Given the description of an element on the screen output the (x, y) to click on. 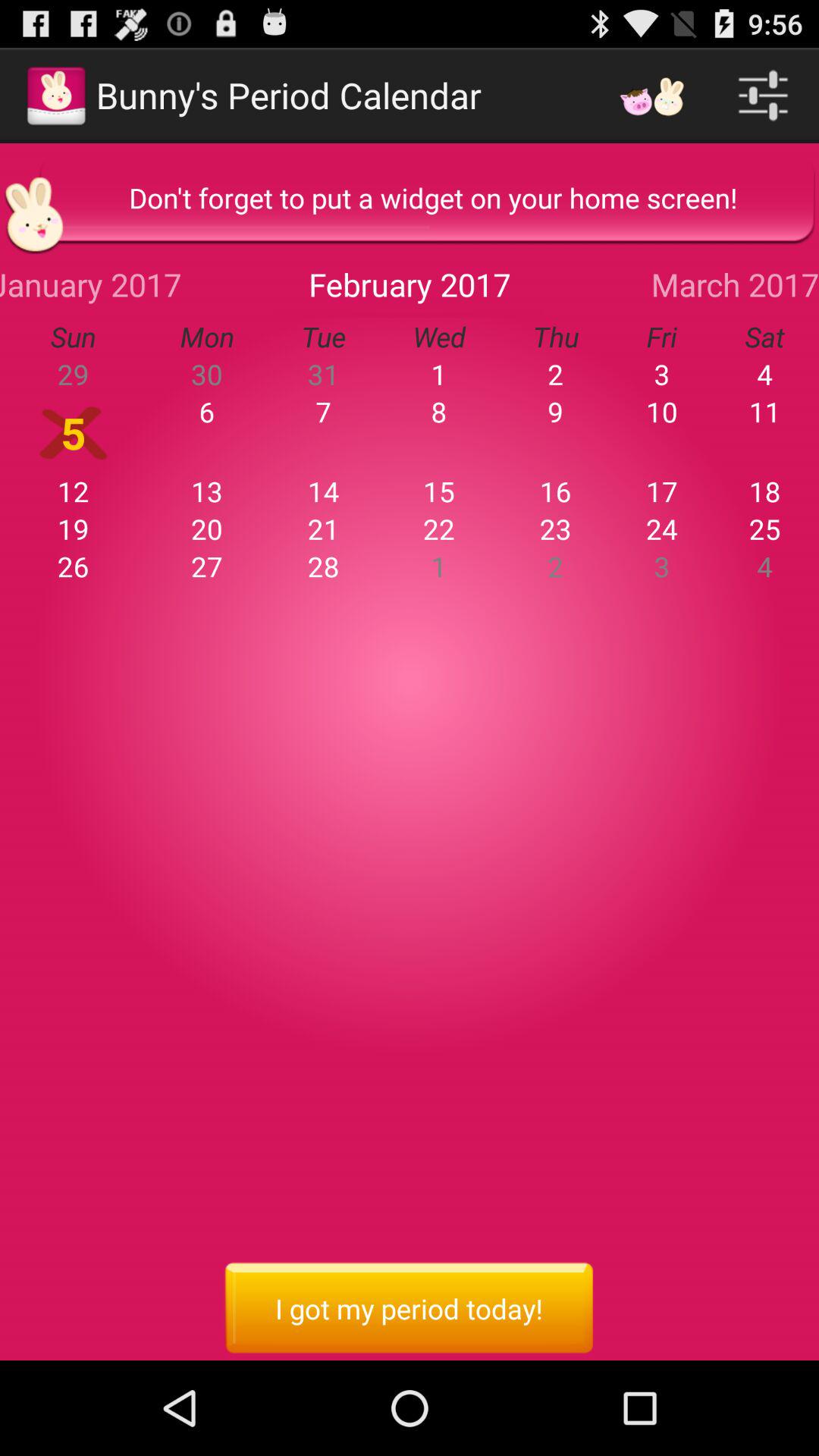
open app to the left of the 3 icon (555, 411)
